Given the description of an element on the screen output the (x, y) to click on. 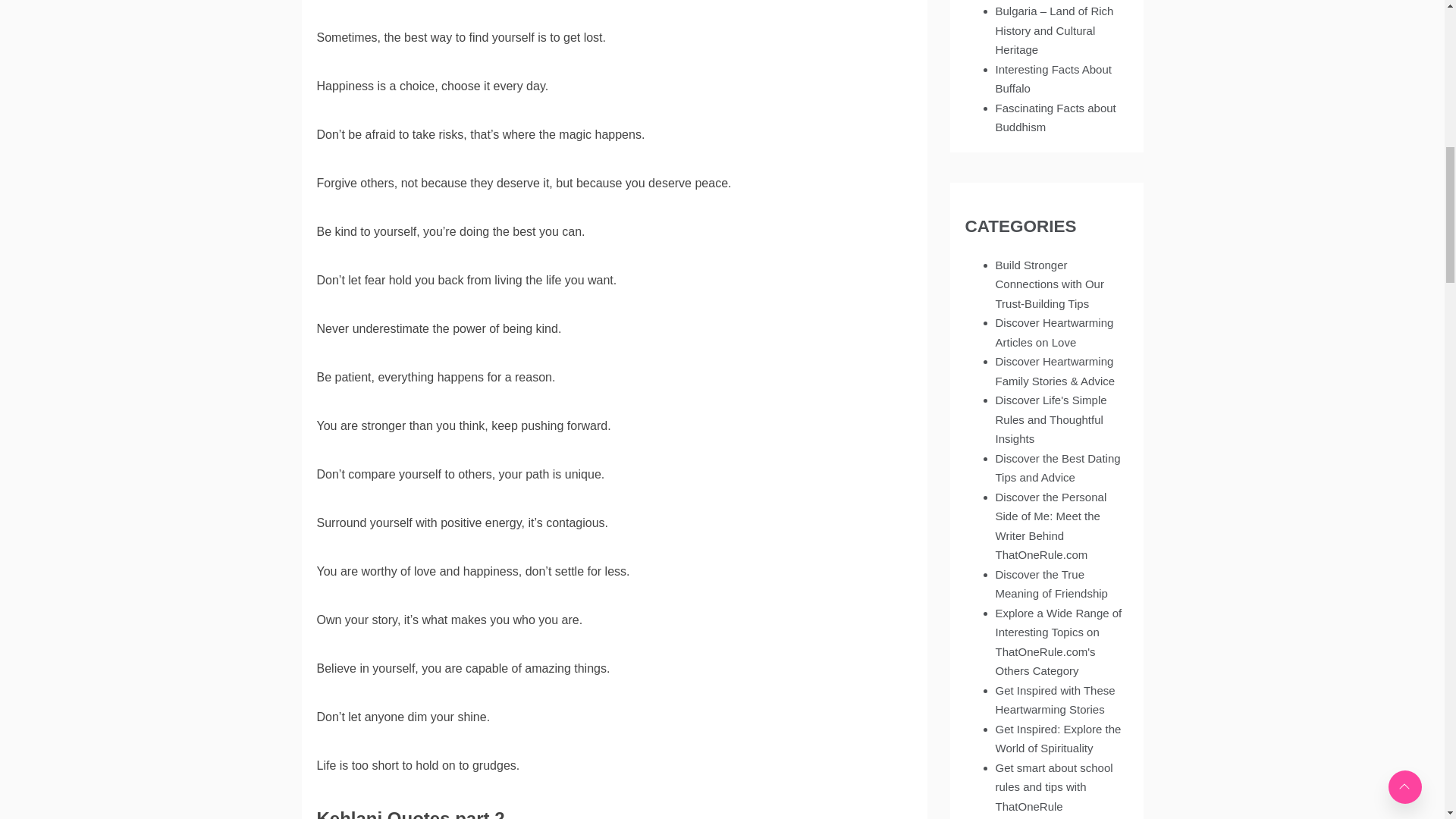
Discover the True Meaning of Friendship (1050, 584)
Discover Heartwarming Articles on Love (1053, 332)
Build Stronger Connections with Our Trust-Building Tips (1048, 284)
Interesting Facts About Buffalo (1052, 79)
Discover the Best Dating Tips and Advice (1056, 468)
Fascinating Facts about Buddhism (1054, 117)
Discover Life's Simple Rules and Thoughtful Insights (1050, 419)
